Given the description of an element on the screen output the (x, y) to click on. 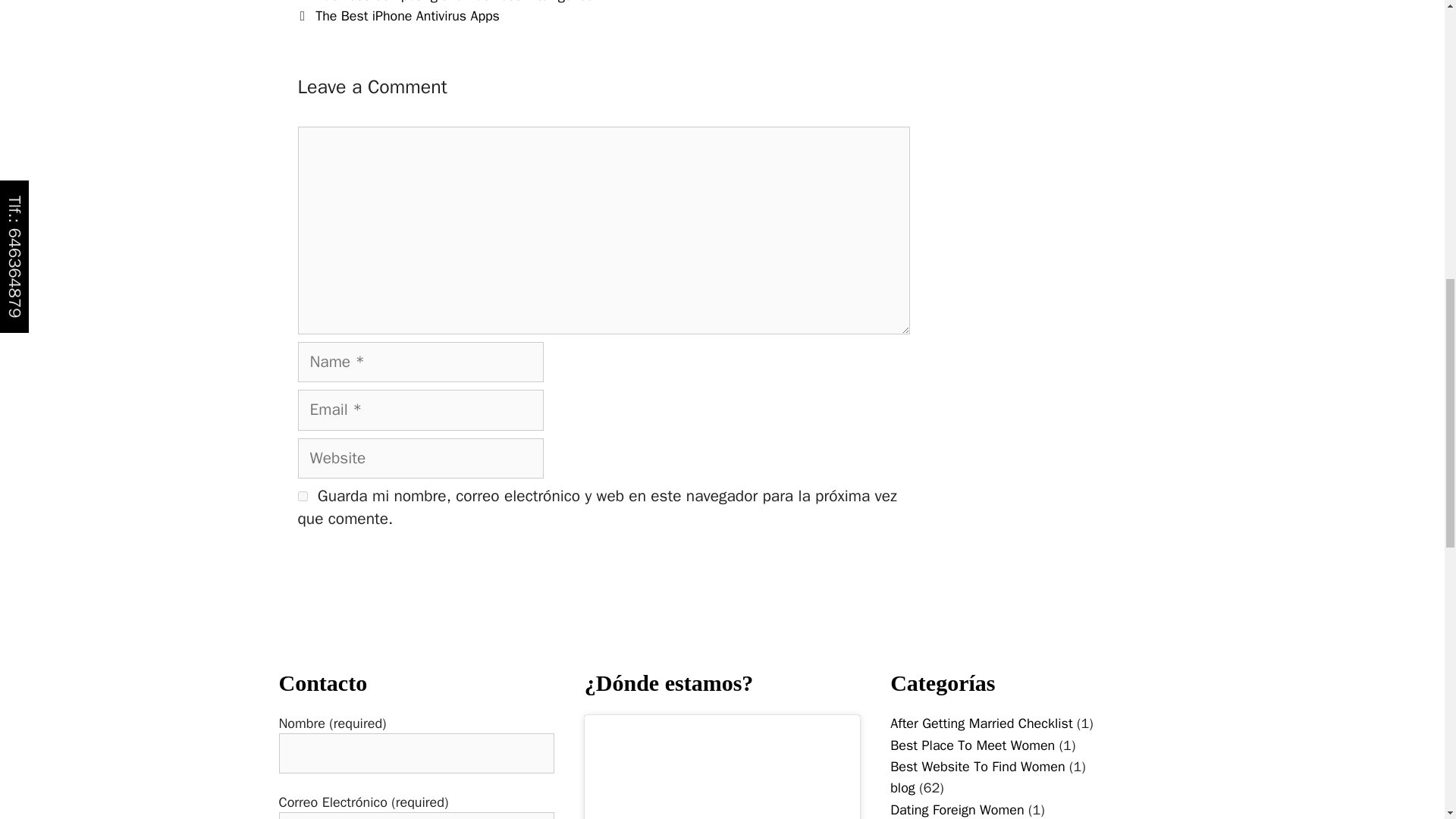
yes (302, 496)
Post Comment (358, 571)
Next (398, 15)
Post Comment (358, 571)
Business Computing and Business Intelligence (453, 2)
The Best iPhone Antivirus Apps (407, 15)
Previous (444, 2)
